Given the description of an element on the screen output the (x, y) to click on. 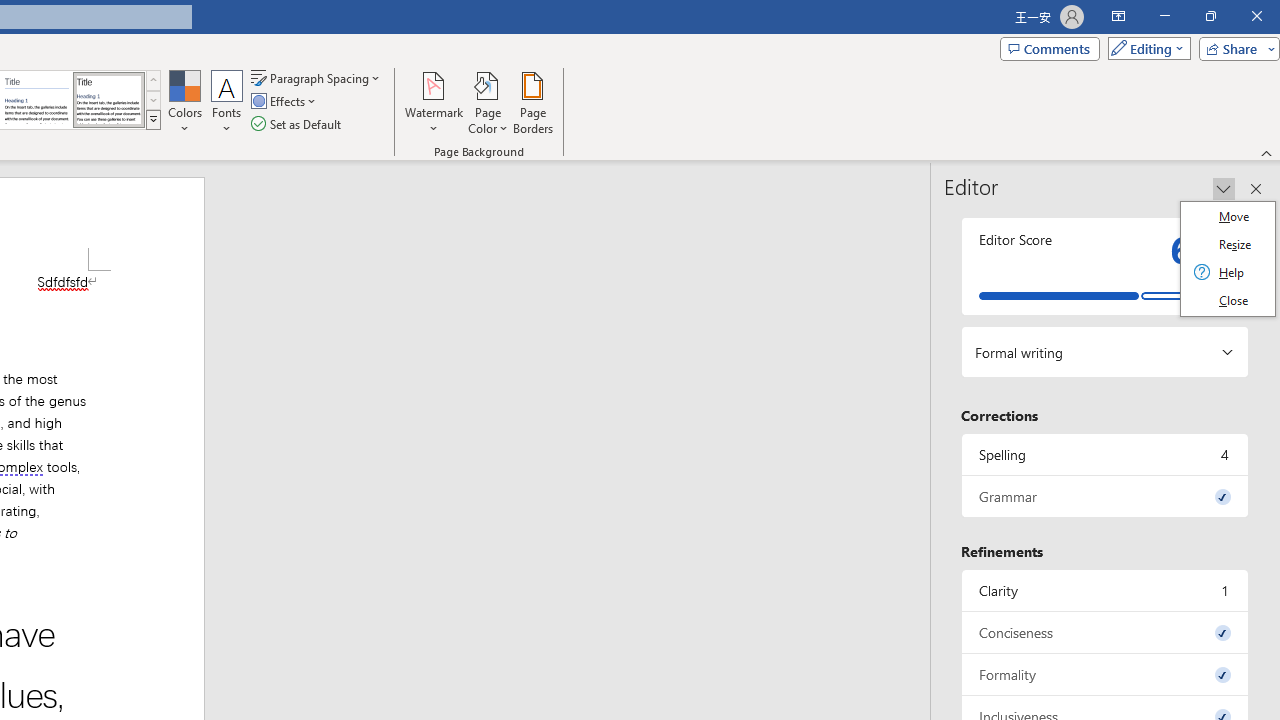
Page Borders... (532, 102)
Conciseness, 0 issues. Press space or enter to review items. (1105, 632)
Colors (184, 102)
Clarity, 1 issue. Press space or enter to review items. (1105, 590)
Spelling, 4 issues. Press space or enter to review items. (1105, 454)
Word 2013 (108, 100)
Word 2010 (36, 100)
